Given the description of an element on the screen output the (x, y) to click on. 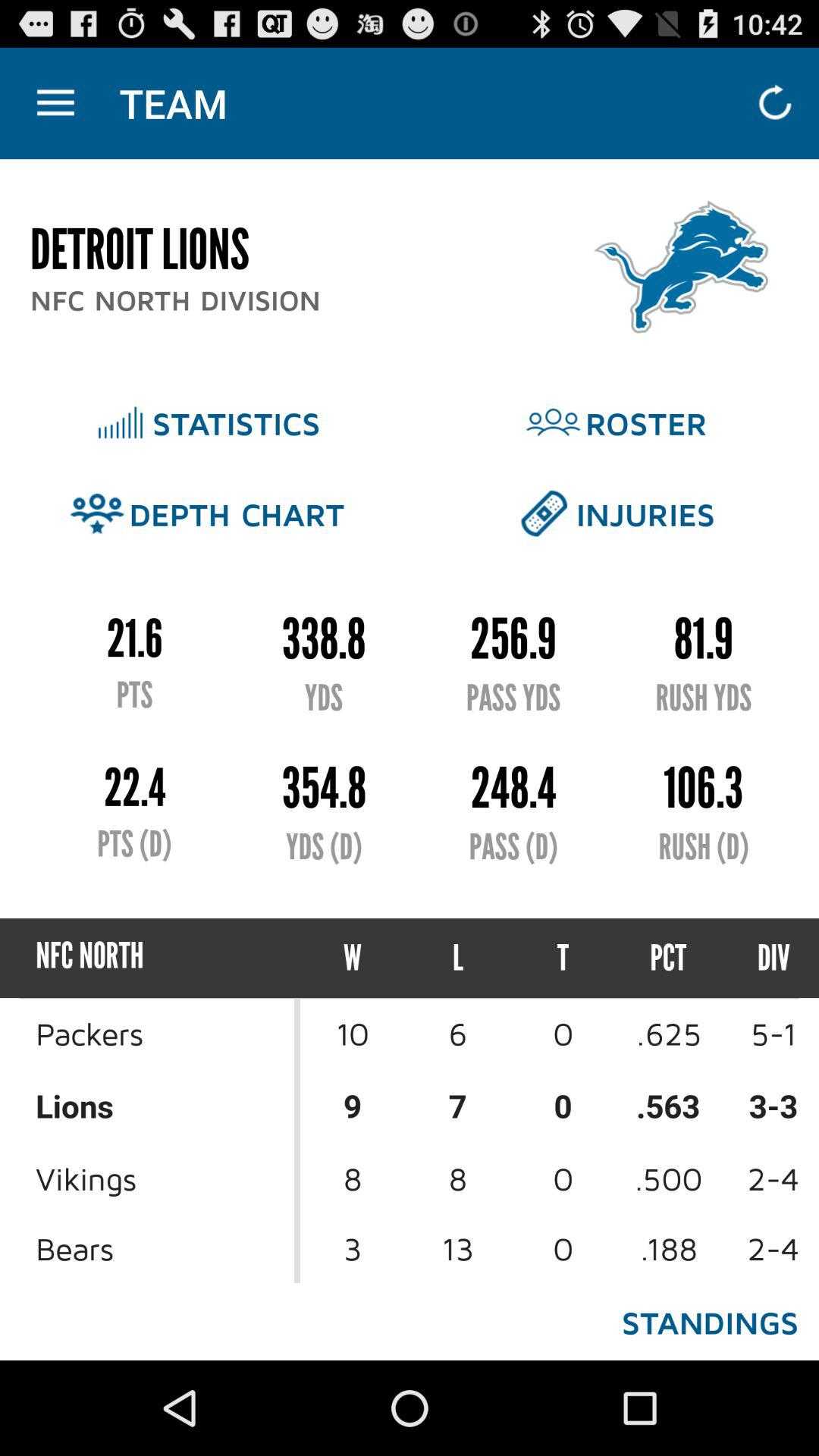
press the item above the detroit lions (55, 103)
